Given the description of an element on the screen output the (x, y) to click on. 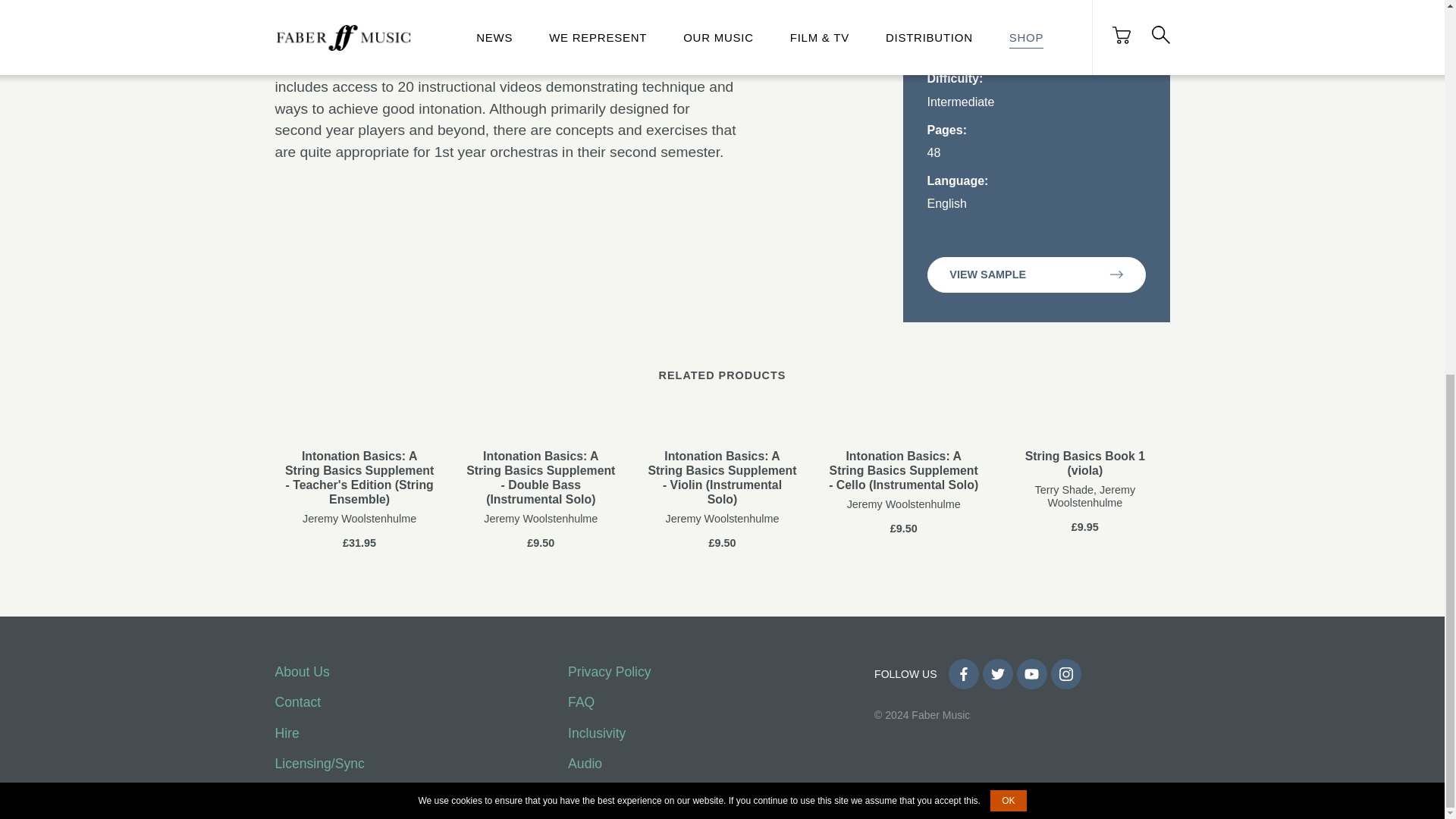
VIEW SAMPLE (1035, 274)
